Given the description of an element on the screen output the (x, y) to click on. 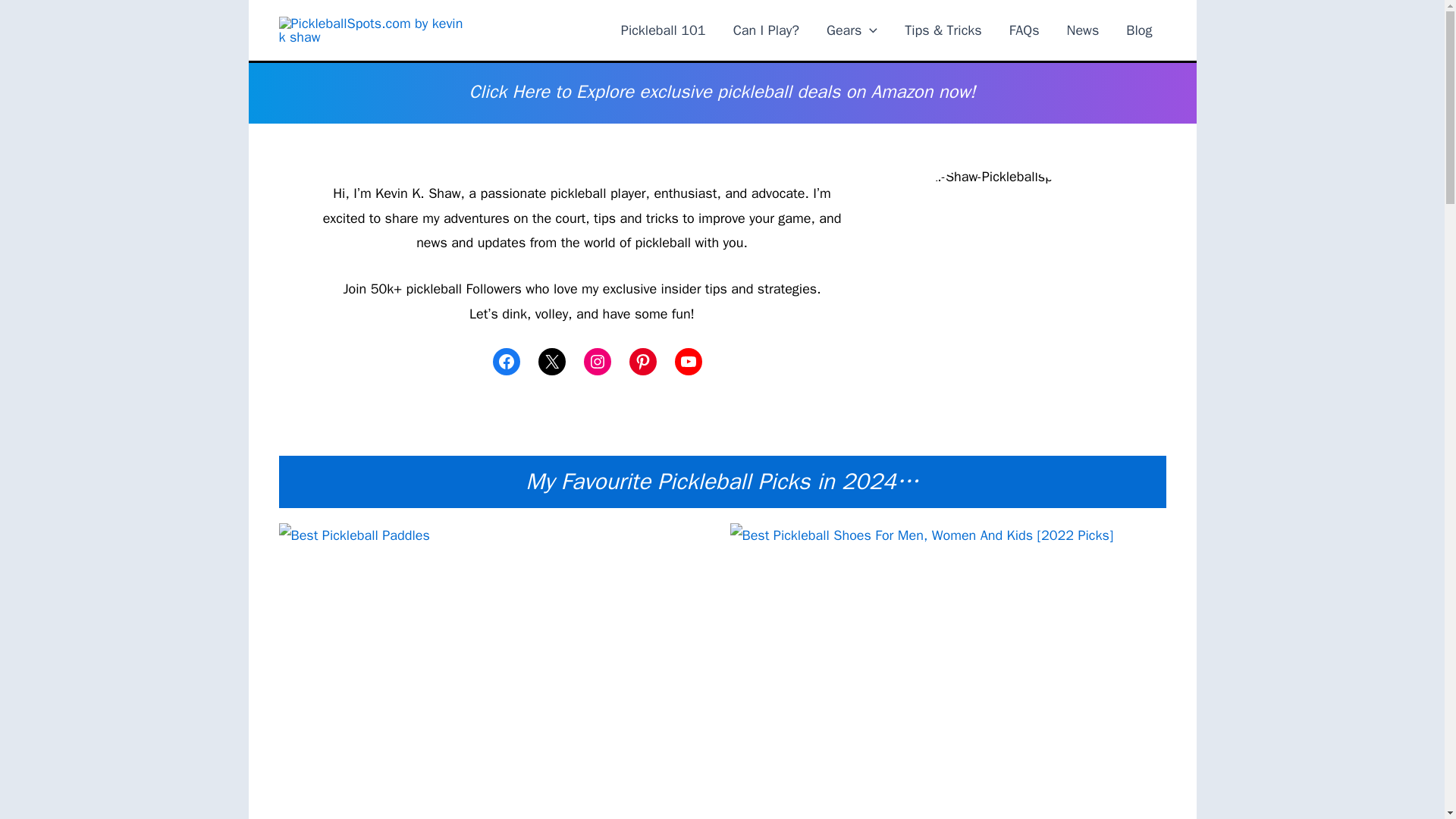
Pickleball 101 (663, 30)
FAQs (1023, 30)
Get pickleball related deals on Amazon. (721, 93)
Pinterest (642, 361)
Instagram (597, 361)
YouTube (688, 361)
Can I Play? (765, 30)
Facebook (506, 361)
X (552, 361)
News (1082, 30)
Gears (851, 30)
